Given the description of an element on the screen output the (x, y) to click on. 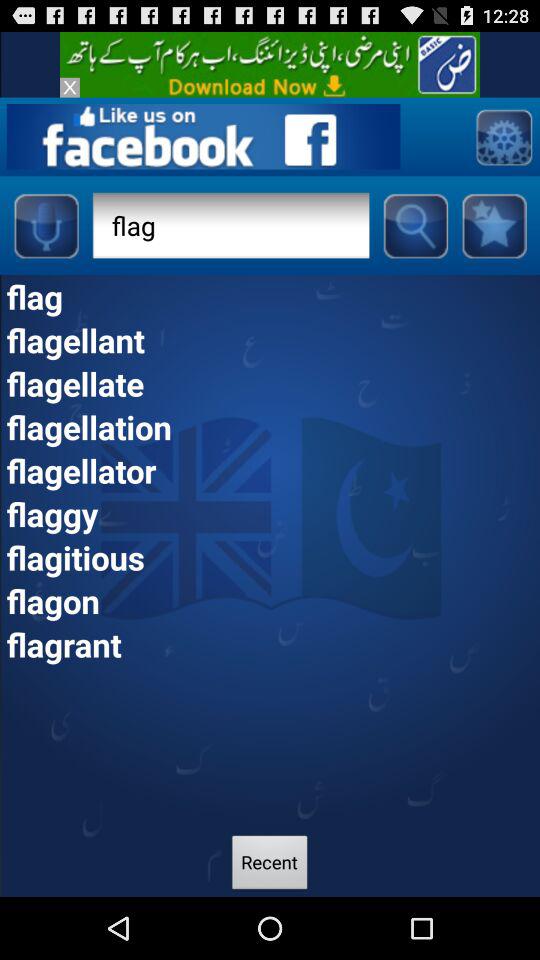
search button (415, 225)
